Given the description of an element on the screen output the (x, y) to click on. 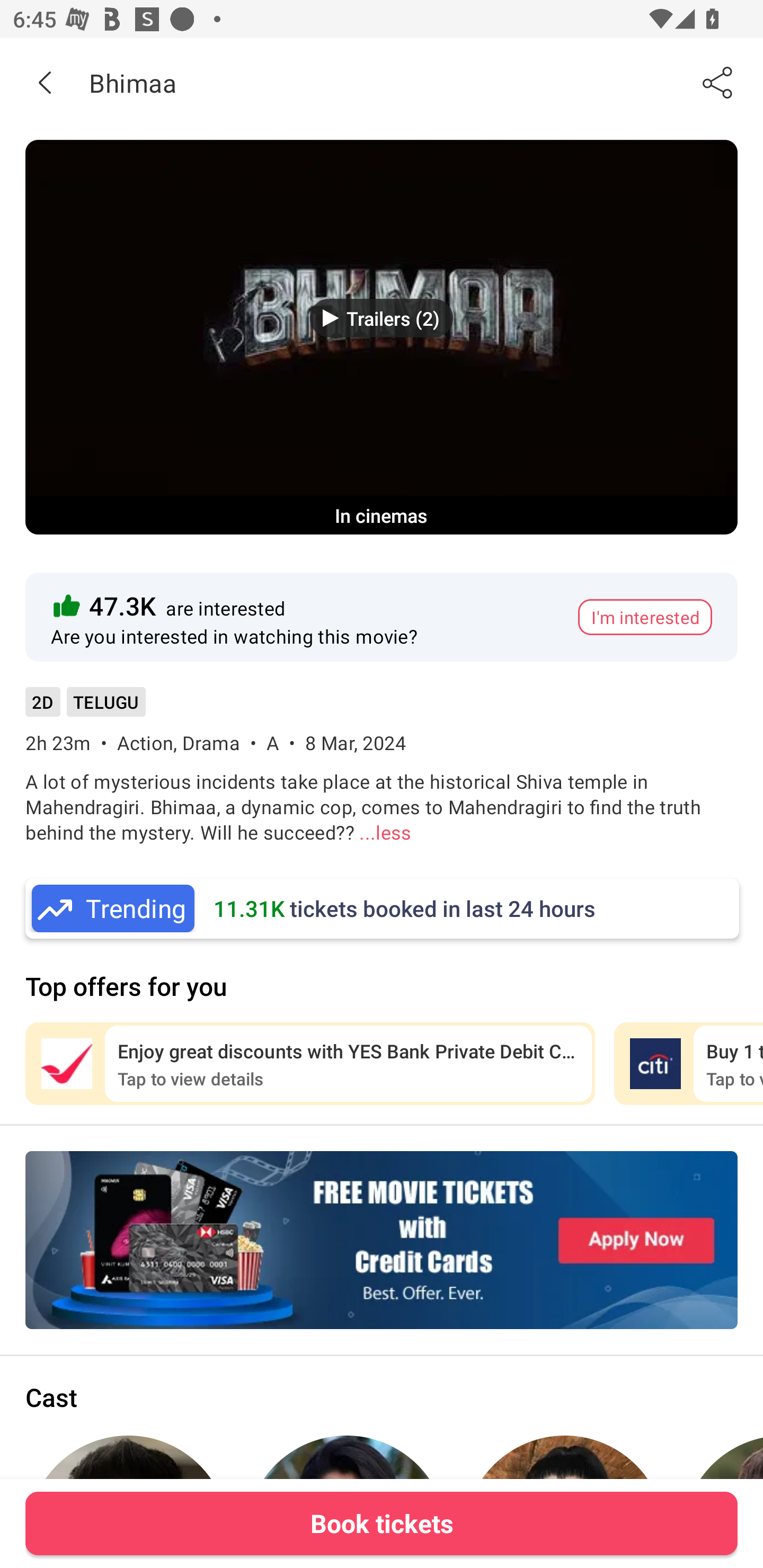
Back (44, 82)
Share (718, 82)
Movie Banner Trailers (2) In cinemas (381, 336)
Trailers (2) (381, 318)
I'm interested (644, 616)
2D TELUGU (85, 707)
Book tickets (381, 1523)
